Given the description of an element on the screen output the (x, y) to click on. 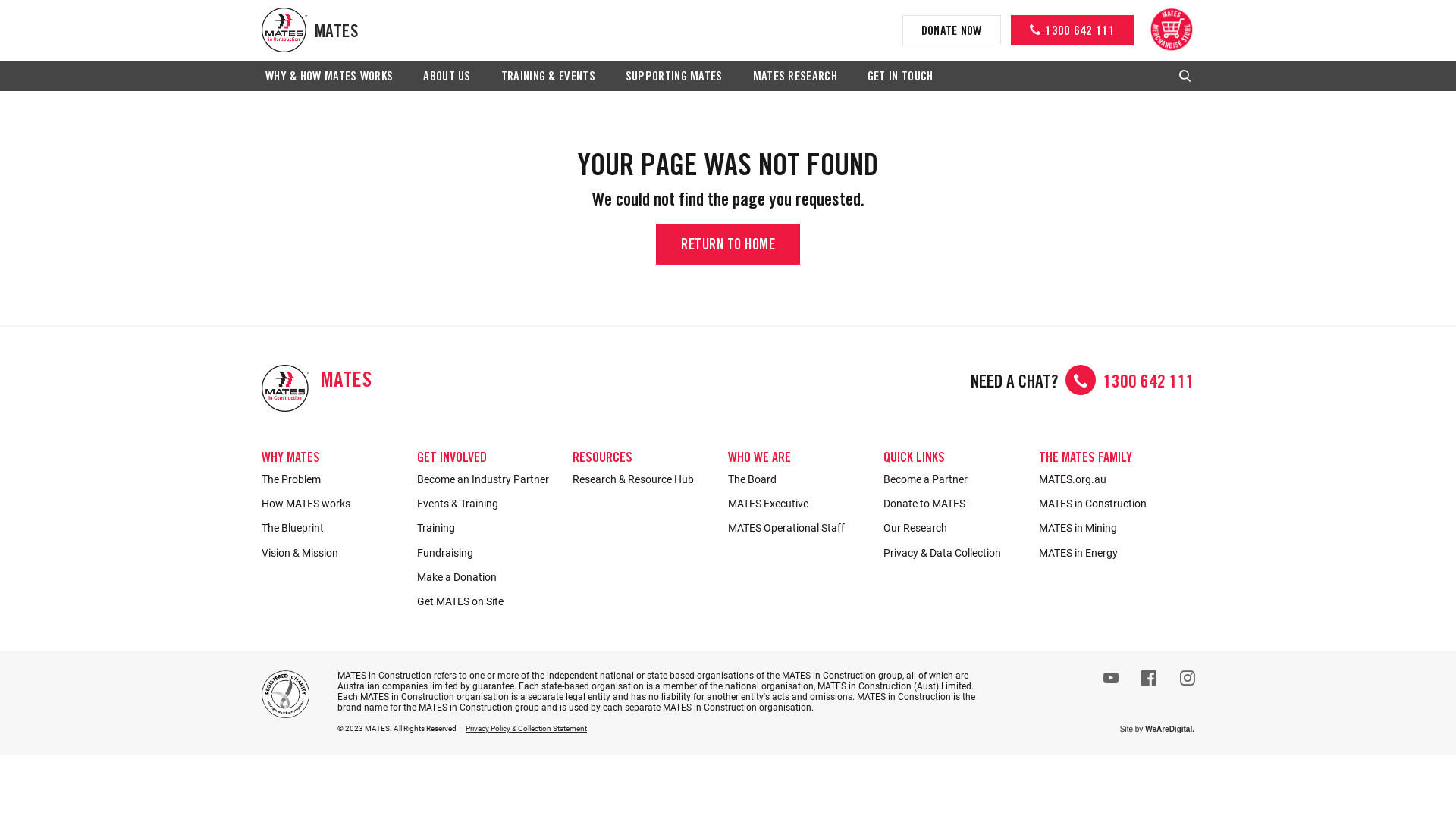
Research & Resource Hub Element type: text (642, 479)
Get MATES on Site Element type: text (487, 601)
DONATE NOW Element type: text (951, 30)
Privacy & Data Collection Element type: text (953, 552)
Vision & Mission Element type: text (331, 552)
Become an Industry Partner Element type: text (487, 479)
WHY & HOW MATES WORKS Element type: text (328, 77)
MATES Executive Element type: text (798, 503)
MATES Operational Staff Element type: text (798, 527)
The Problem Element type: text (331, 479)
Become a Partner Element type: text (953, 479)
GET IN TOUCH Element type: text (900, 77)
TRAINING & EVENTS Element type: text (548, 77)
How MATES works Element type: text (331, 503)
Privacy Policy & Collection Statement Element type: text (525, 728)
Make a Donation Element type: text (487, 576)
The Board Element type: text (798, 479)
Our Research Element type: text (953, 527)
MATES.org.au Element type: text (1108, 479)
RETURN TO HOME Element type: text (727, 243)
MATES in Construction Element type: text (1108, 503)
Events & Training Element type: text (487, 503)
1300 642 111 Element type: text (1071, 30)
Training Element type: text (487, 527)
ABOUT US Element type: text (446, 77)
Donate to MATES Element type: text (953, 503)
The Blueprint Element type: text (331, 527)
1300 642 111 Element type: text (1148, 382)
MATES in Energy Element type: text (1108, 552)
SUPPORTING MATES Element type: text (673, 77)
Fundraising Element type: text (487, 552)
MATES RESEARCH Element type: text (794, 77)
MATES in Mining Element type: text (1108, 527)
